Given the description of an element on the screen output the (x, y) to click on. 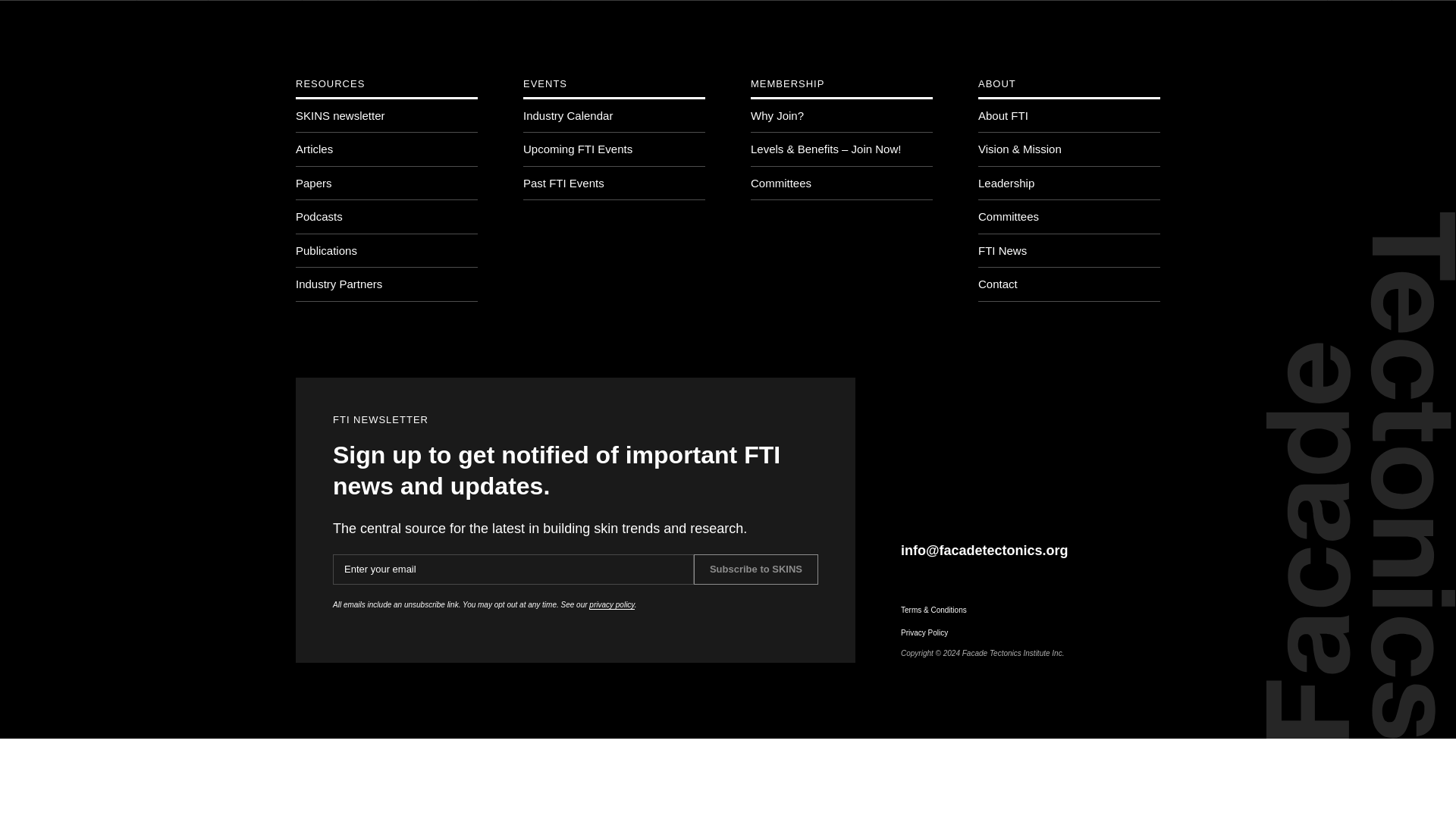
Sign In (1358, 18)
SKINS (585, 18)
Home (170, 18)
About (513, 18)
Membership (426, 18)
Resources (253, 18)
Events (337, 18)
